Given the description of an element on the screen output the (x, y) to click on. 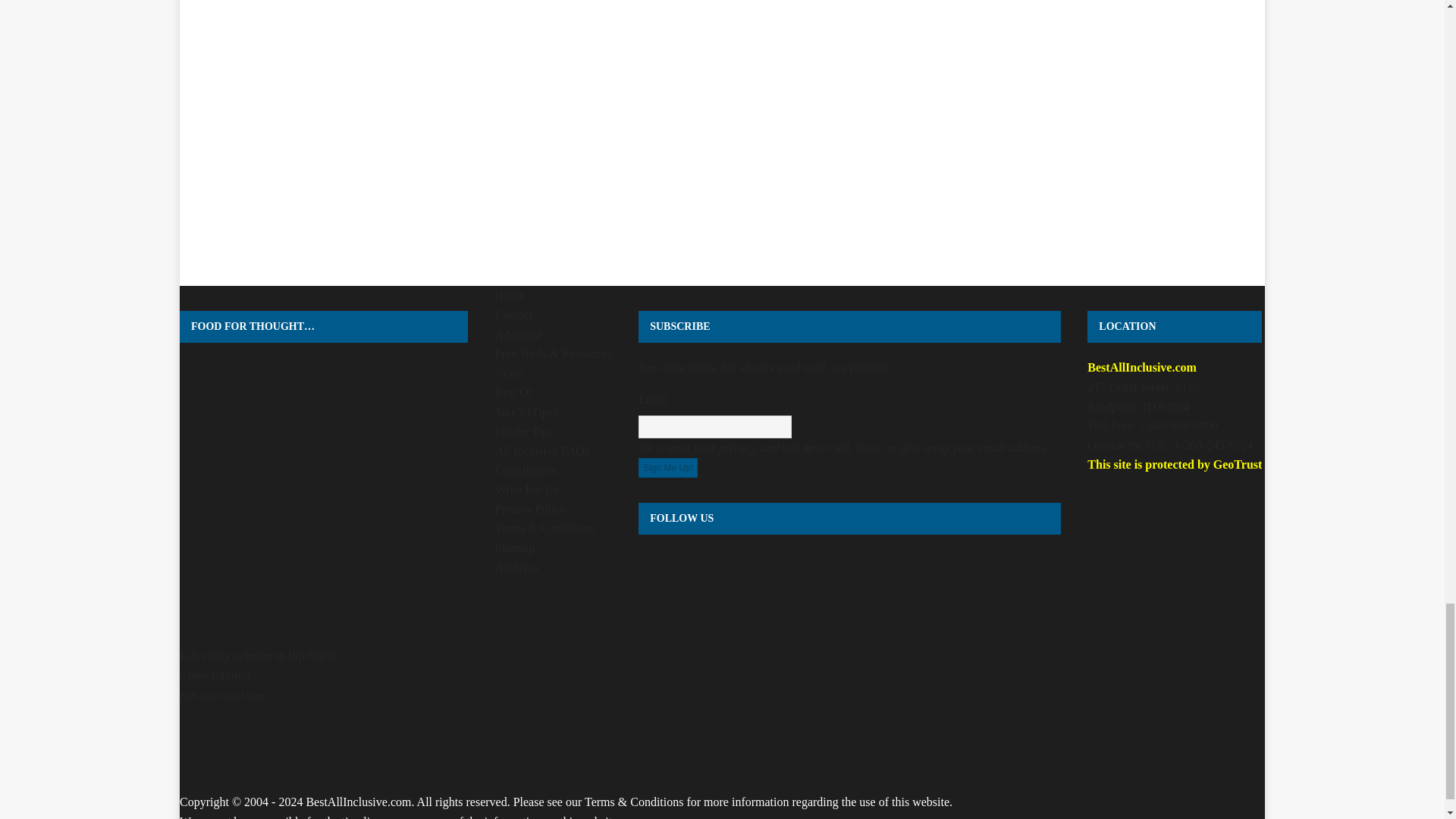
Sign Me Up! (668, 467)
